Given the description of an element on the screen output the (x, y) to click on. 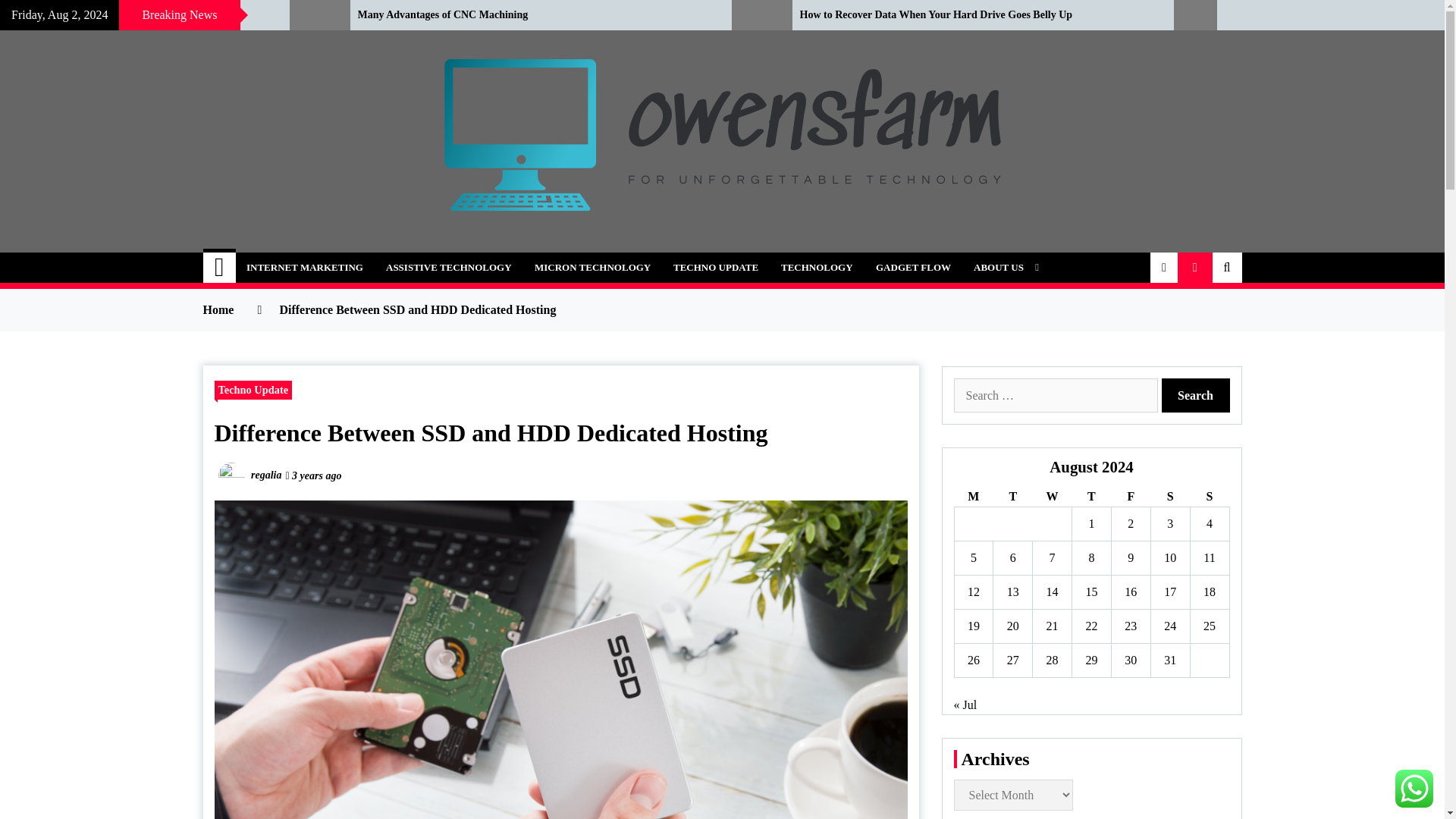
Search (1195, 395)
Friday (1130, 496)
Wednesday (1051, 496)
Many Advantages of CNC Machining (533, 15)
How to Recover Data When Your Hard Drive Goes Belly Up (974, 15)
Sunday (1208, 496)
Thursday (1091, 496)
Saturday (1169, 496)
Monday (972, 496)
Search (1195, 395)
